Given the description of an element on the screen output the (x, y) to click on. 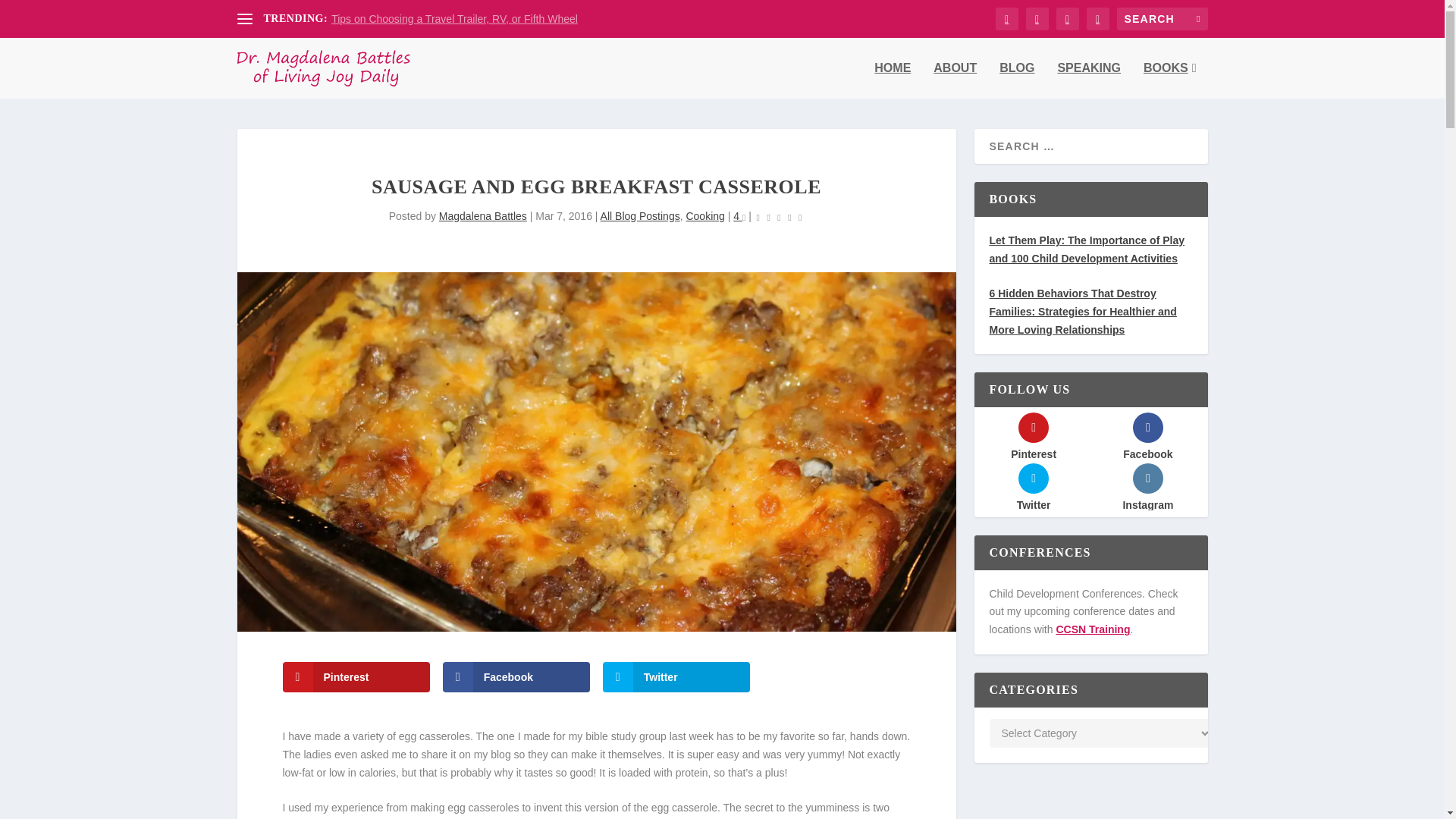
Twitter (676, 676)
Search for: (1161, 18)
Magdalena Battles (483, 215)
HOME (893, 80)
4 (739, 215)
Facebook (516, 676)
Cooking (704, 215)
BLOG (1015, 80)
BOOKS (1169, 80)
Tips on Choosing a Travel Trailer, RV, or Fifth Wheel (454, 19)
All Blog Postings (639, 215)
Pinterest (355, 676)
comment count (743, 217)
SPEAKING (1089, 80)
ABOUT (954, 80)
